Given the description of an element on the screen output the (x, y) to click on. 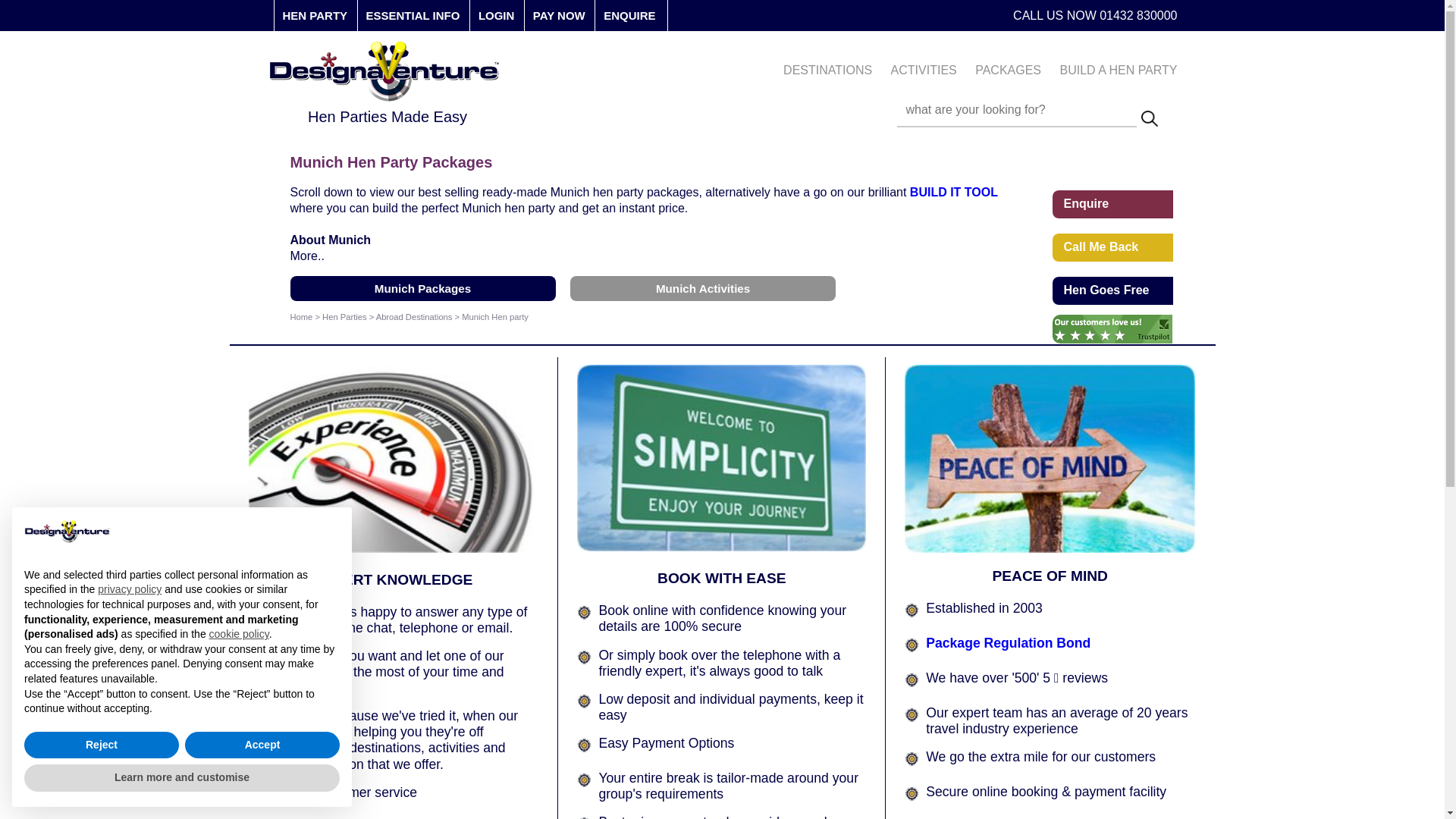
Hen Goes Free (1112, 289)
LOGIN (497, 15)
PAY NOW (558, 15)
BUILD A HEN PARTY (1117, 69)
Back to TOP (1112, 411)
PACKAGES (1008, 69)
Home (301, 316)
HEN PARTY (314, 15)
Enquire (1112, 202)
Munich Activities (702, 288)
Build Your Own Hen Weekend (953, 192)
More.. (306, 255)
Munich Packages (421, 288)
DESTINATIONS (827, 69)
CALL US NOW 01432 830000 (1094, 15)
